Given the description of an element on the screen output the (x, y) to click on. 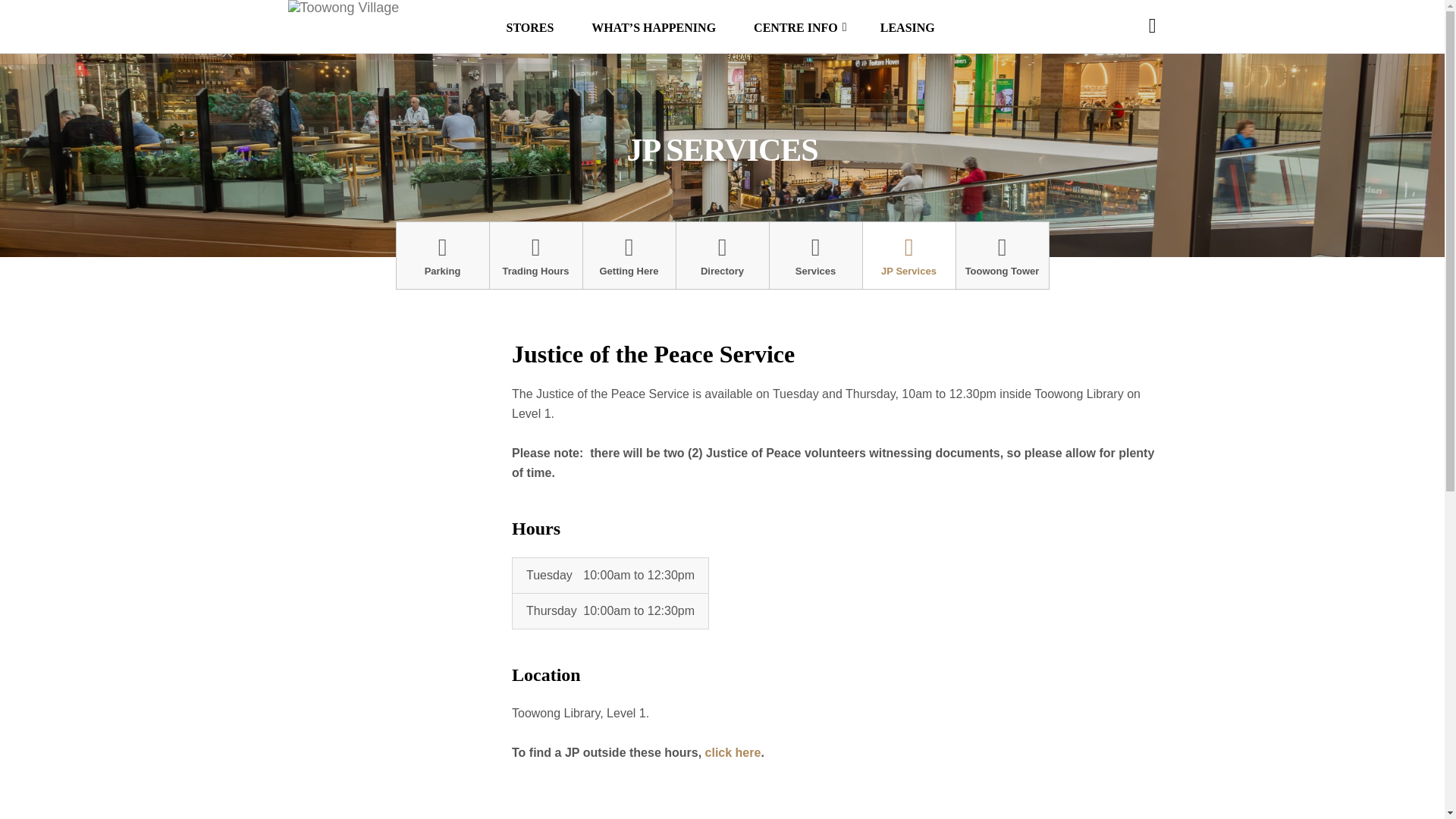
JP Services (909, 255)
CENTRE INFO (798, 28)
click here (732, 752)
Getting Here (628, 255)
Parking (441, 255)
Toowong Tower (1001, 255)
Leasing (907, 28)
Trading Hours (535, 255)
LEASING (907, 28)
Centre Info (798, 28)
STORES (530, 28)
Directory (722, 255)
Stores (530, 28)
Services (814, 255)
